Given the description of an element on the screen output the (x, y) to click on. 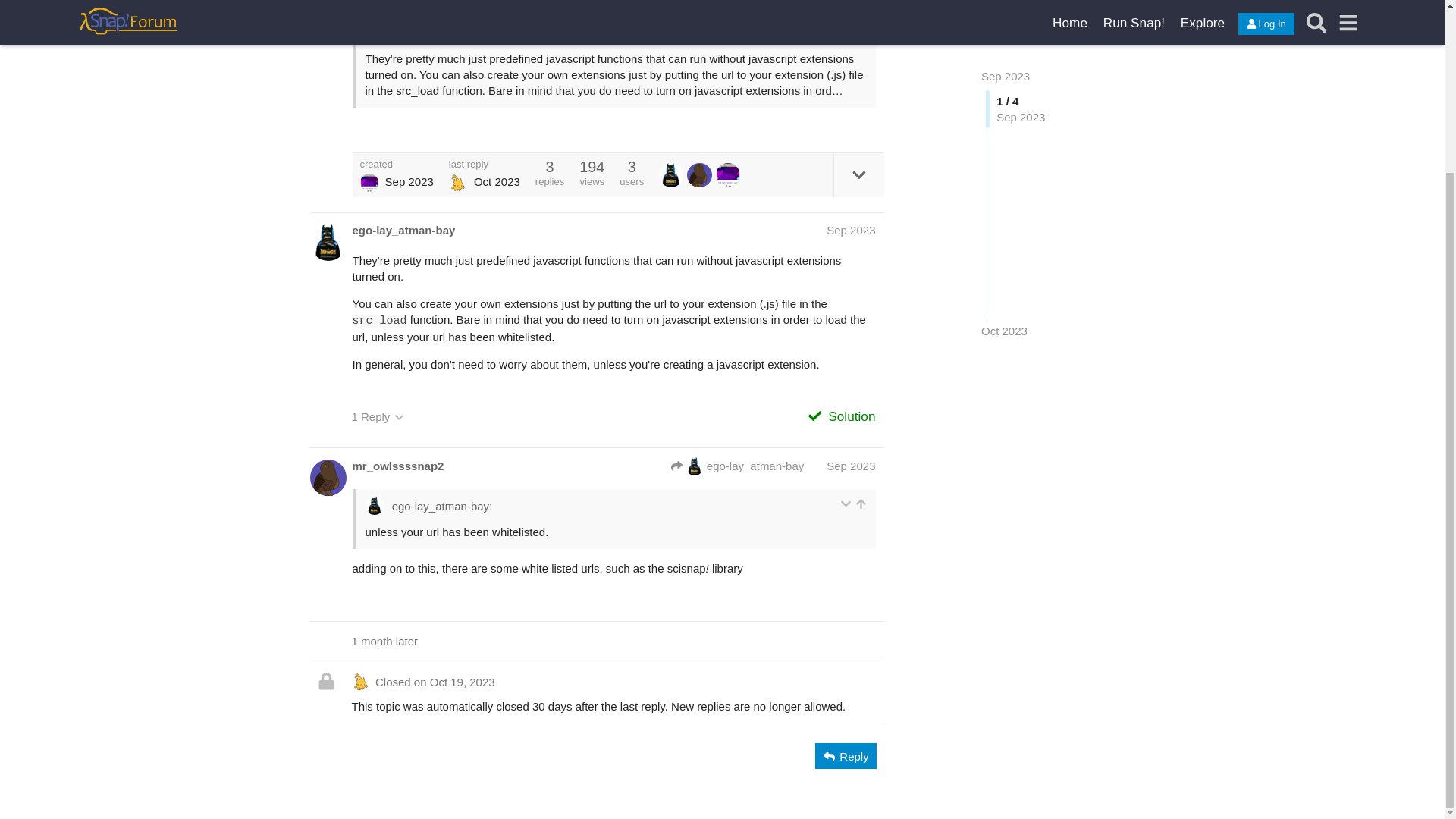
Sep 19, 2023 2:10 am (409, 181)
last reply (483, 163)
Oct 19, 2023 3:18 am (1004, 164)
Sep 2023 (851, 229)
codegang (368, 182)
Sep 2023 (851, 465)
1 Reply (377, 416)
expand topic details (857, 175)
Oct 2023 (1004, 165)
